Given the description of an element on the screen output the (x, y) to click on. 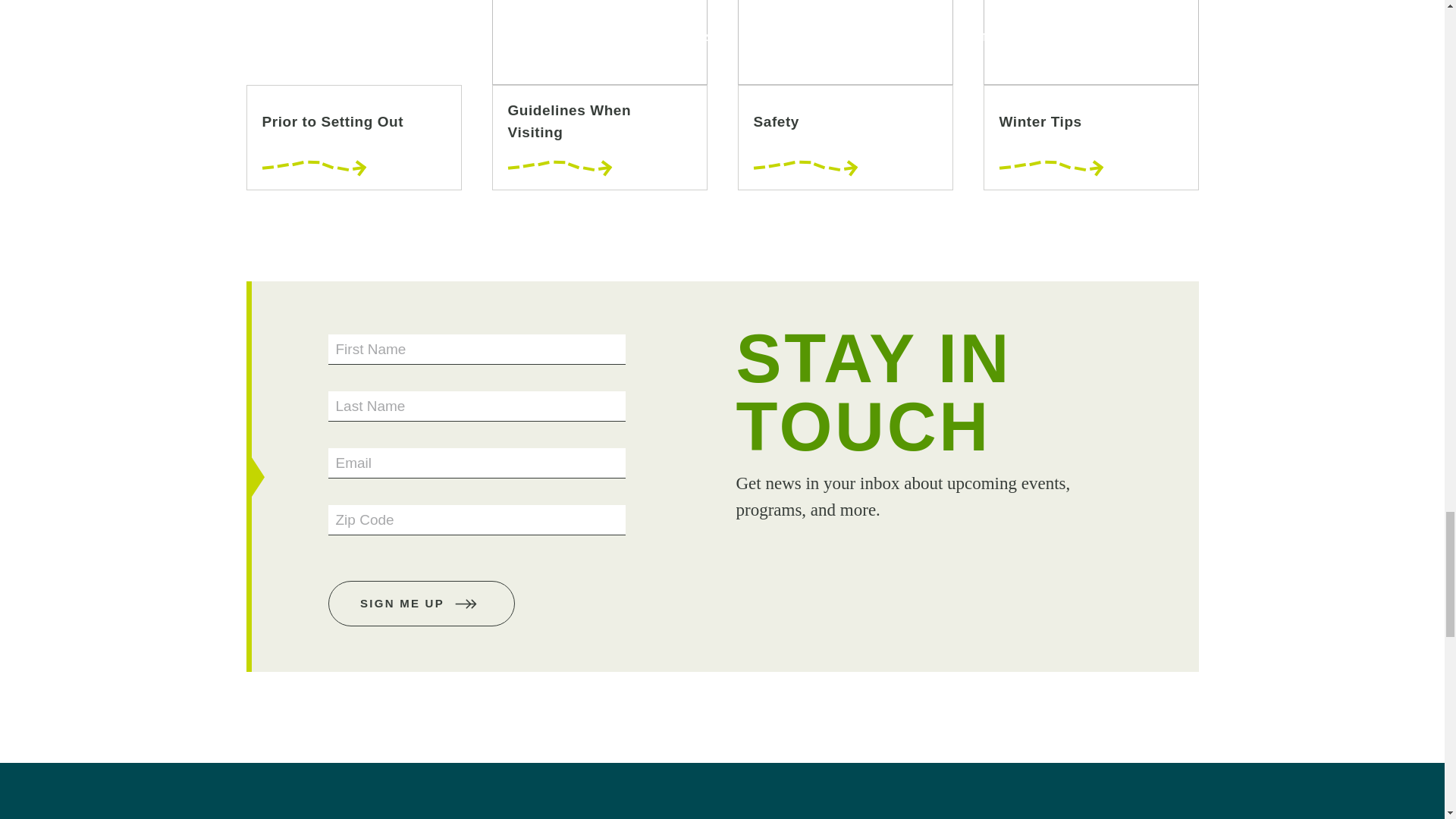
Safety (844, 95)
Guidelines When Visiting (599, 95)
Prior to Setting Out (353, 95)
